Given the description of an element on the screen output the (x, y) to click on. 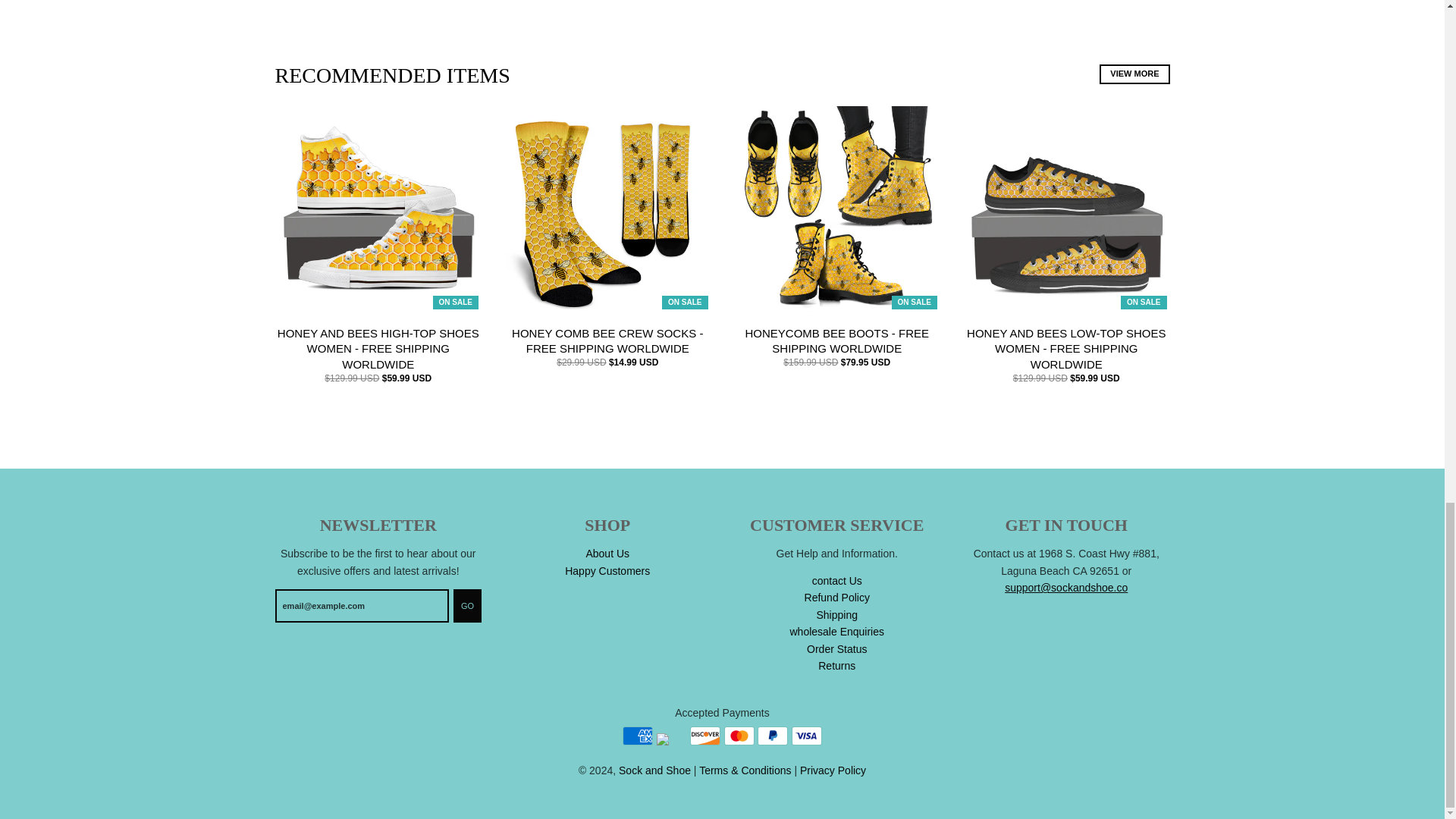
ON SALE (836, 209)
HONEY COMB BEE CREW SOCKS - FREE SHIPPING WORLDWIDE (607, 340)
Refund Policy (837, 597)
ON SALE (378, 209)
HONEY AND BEES LOW-TOP SHOES WOMEN - FREE SHIPPING WORLDWIDE (1066, 348)
About Us (606, 553)
ON SALE (1066, 209)
VIEW MORE (1134, 74)
contact Us (836, 580)
ON SALE (607, 209)
Happy Customers (606, 571)
HONEYCOMB BEE BOOTS - FREE SHIPPING WORLDWIDE (836, 340)
